Given the description of an element on the screen output the (x, y) to click on. 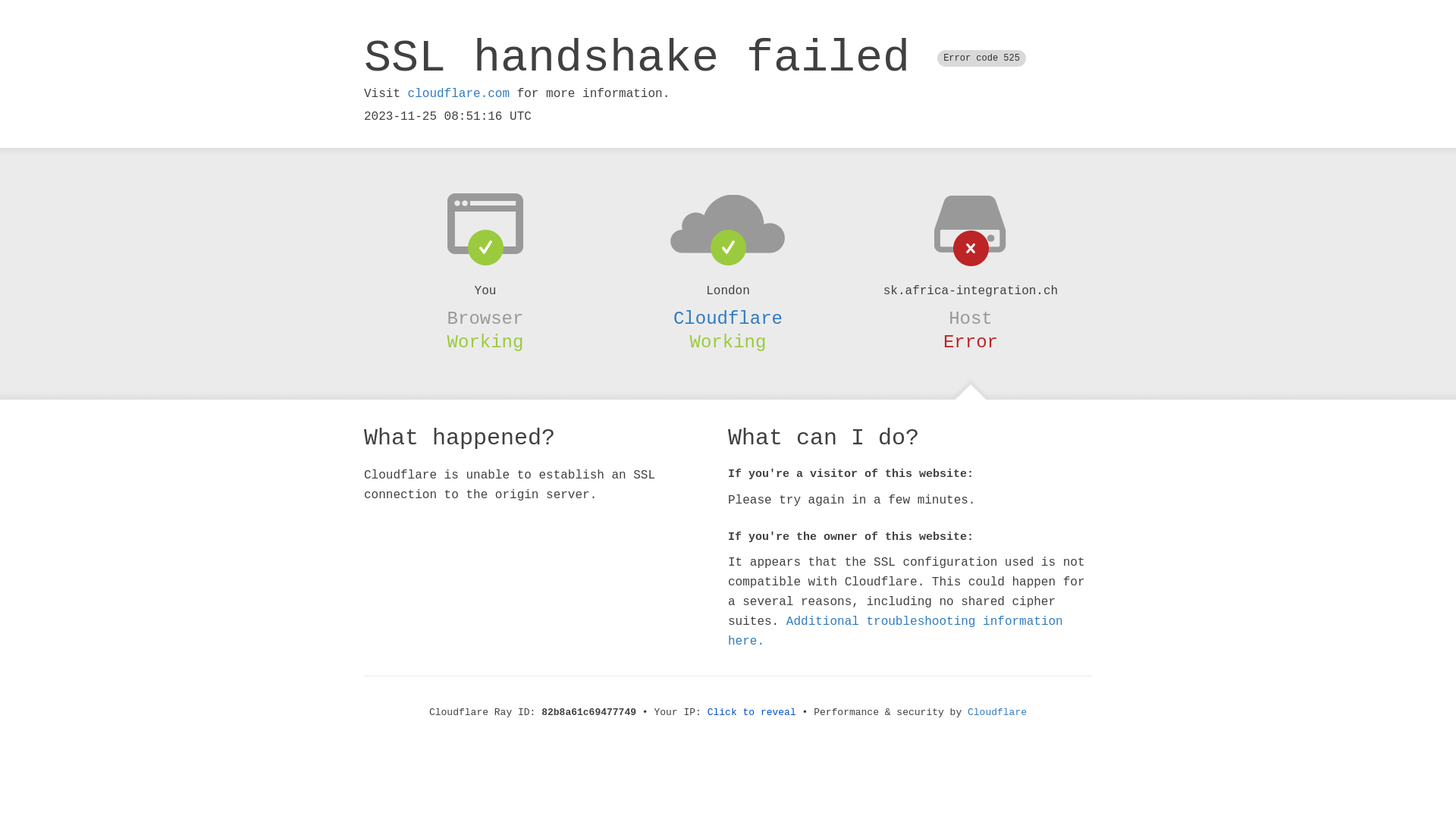
Cloudflare Element type: text (727, 318)
Click to reveal Element type: text (751, 712)
Cloudflare Element type: text (996, 712)
cloudflare.com Element type: text (458, 93)
Additional troubleshooting information here. Element type: text (895, 631)
